Given the description of an element on the screen output the (x, y) to click on. 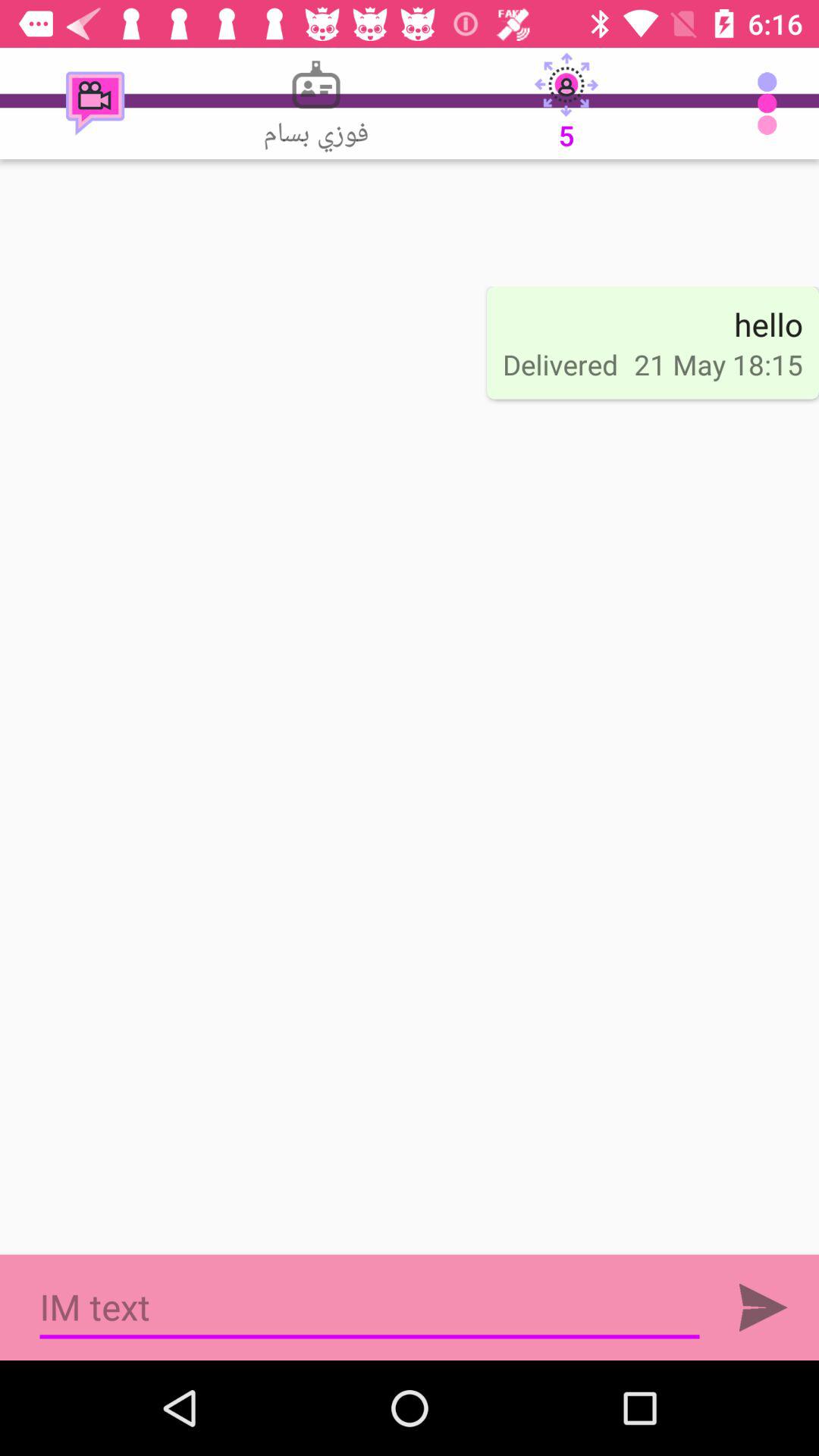
send text (763, 1307)
